Given the description of an element on the screen output the (x, y) to click on. 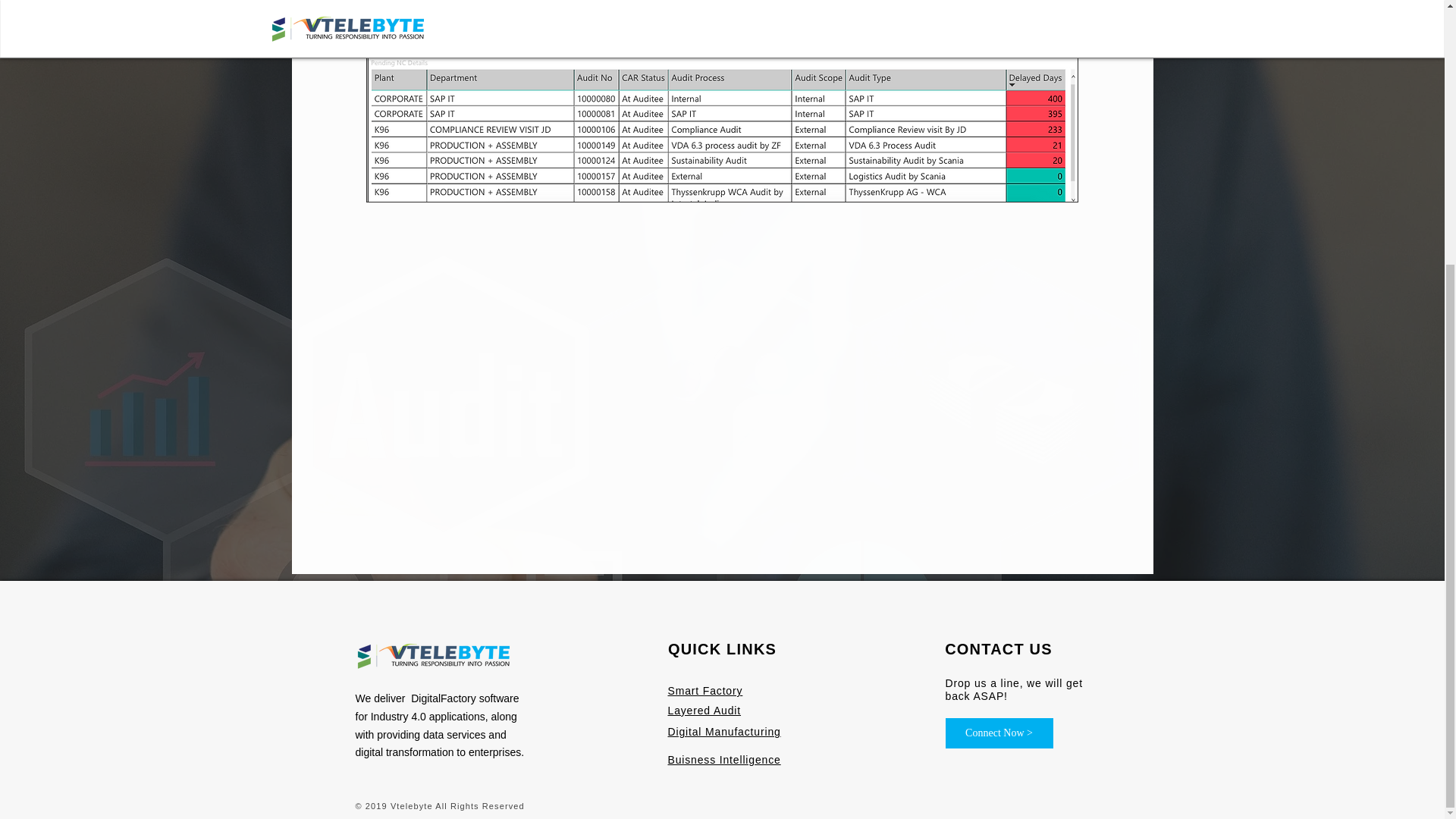
Buisness Intelligence (723, 759)
Layered Audit (703, 710)
Digital Manufacturing (723, 731)
Smart Factory (704, 690)
